Given the description of an element on the screen output the (x, y) to click on. 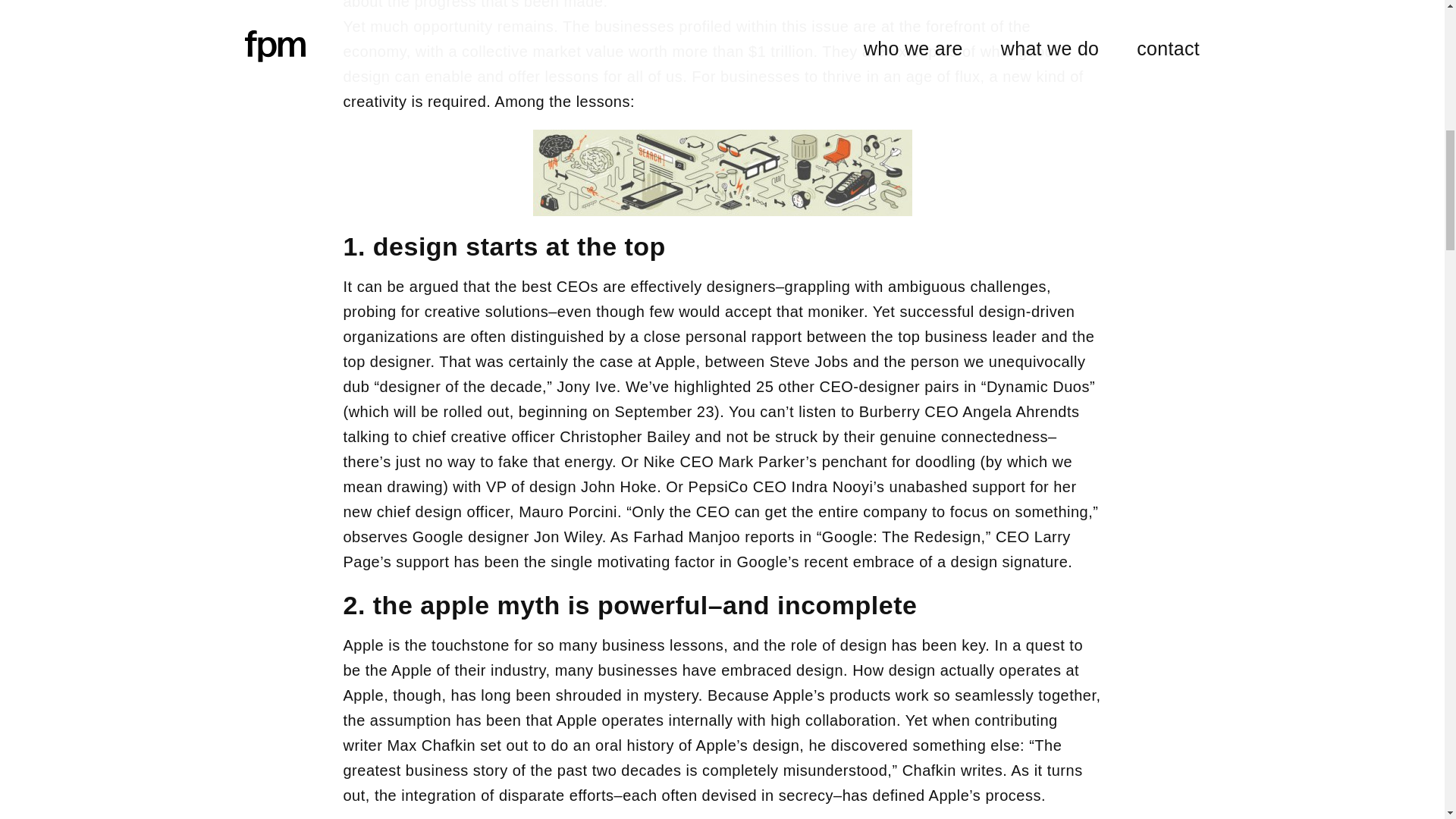
age of flux (942, 76)
Google: The Redesign (901, 536)
Burberry CEO Angela Ahrendts (969, 411)
Max Chafkin (431, 745)
Farhad Manjoo (686, 536)
